Given the description of an element on the screen output the (x, y) to click on. 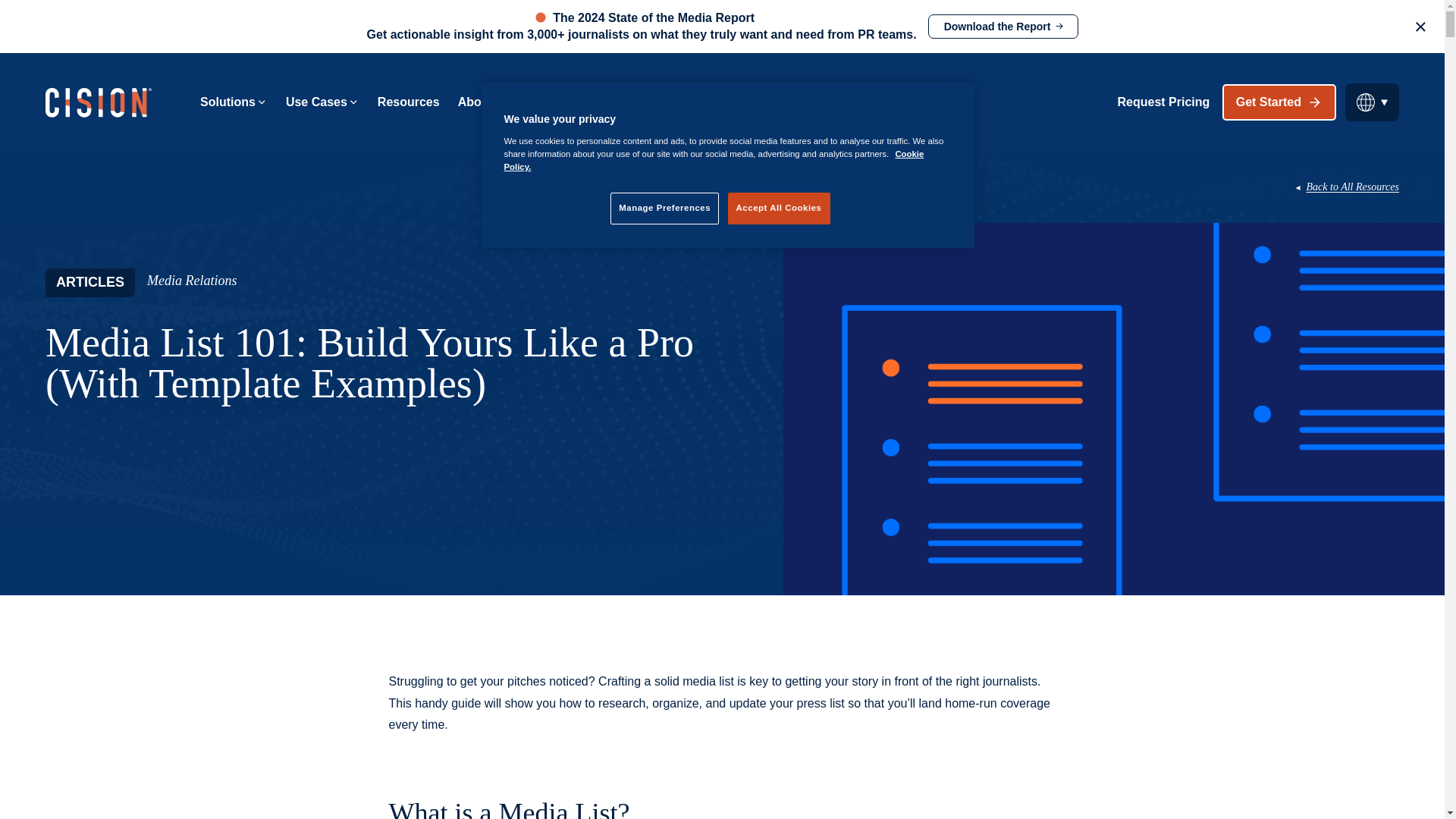
Use Cases (322, 102)
Solutions (233, 102)
Download the Report (1003, 26)
About Us (491, 102)
Resources (408, 102)
